Given the description of an element on the screen output the (x, y) to click on. 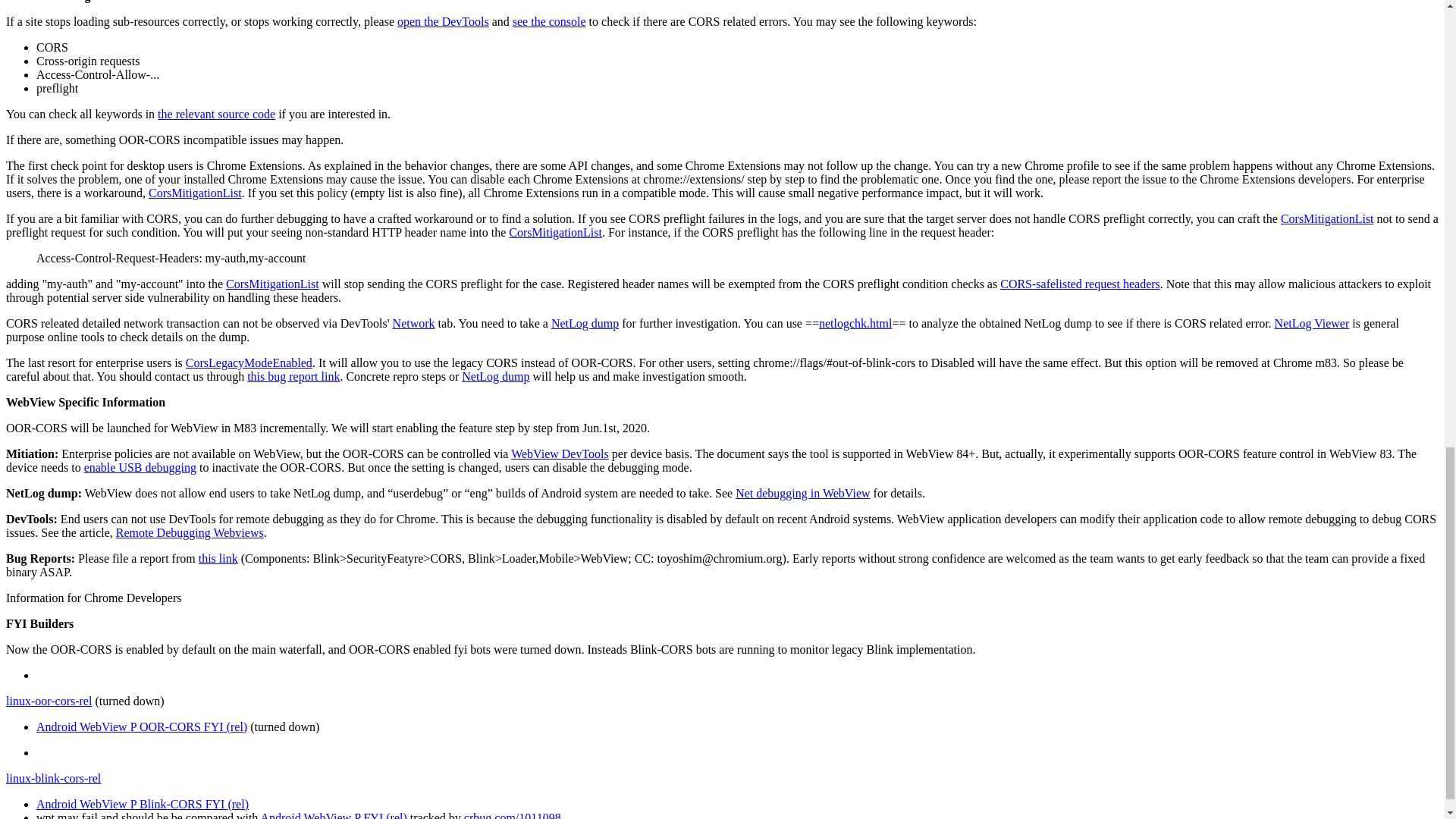
NetLog dump (584, 323)
see the console (549, 21)
CORS-safelisted request headers (1080, 283)
open the DevTools (443, 21)
CorsMitigationList (555, 232)
Network (414, 323)
CorsMitigationList (271, 283)
CorsMitigationList (194, 192)
CorsMitigationList (1327, 218)
the relevant source code (216, 113)
